Given the description of an element on the screen output the (x, y) to click on. 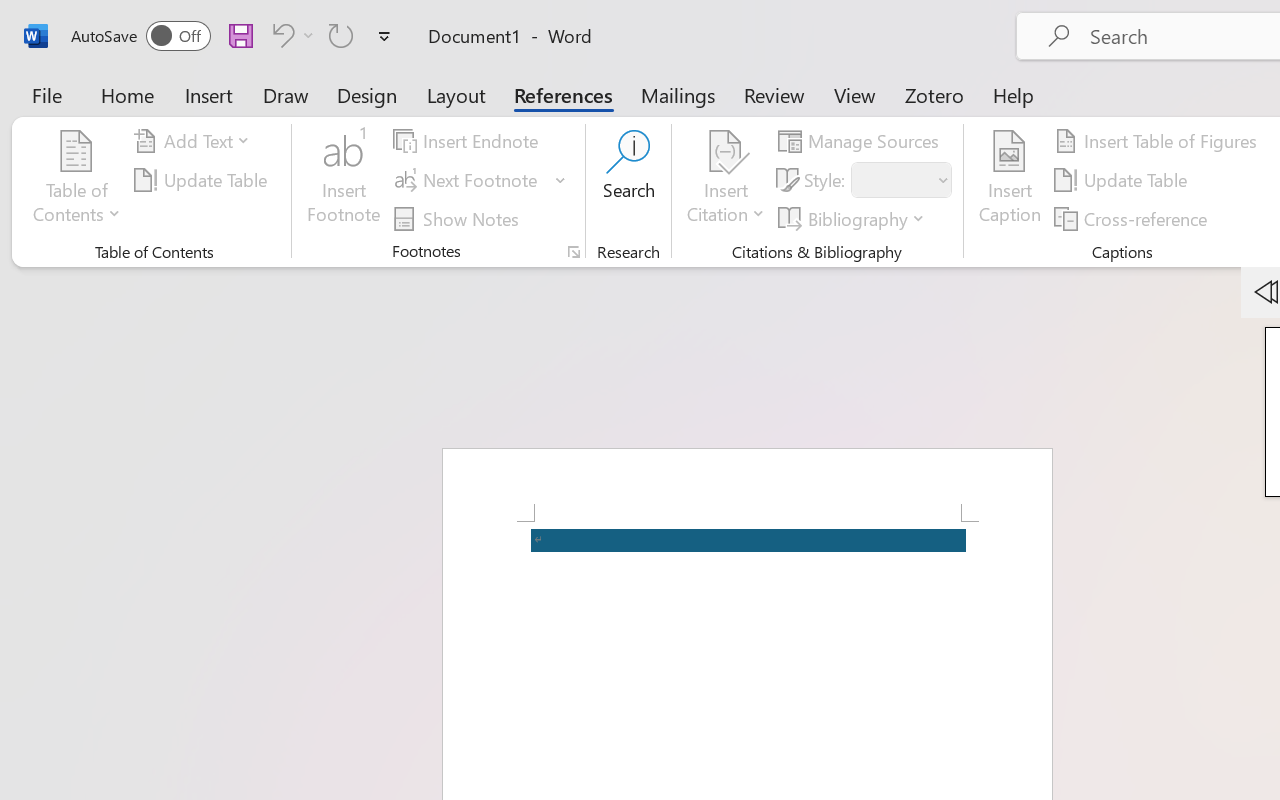
Insert Citation (726, 179)
Manage Sources... (861, 141)
Bibliography (854, 218)
Update Table... (204, 179)
Insert Caption... (1009, 180)
Update Table (1124, 179)
Undo Apply Quick Style Set (280, 35)
